Given the description of an element on the screen output the (x, y) to click on. 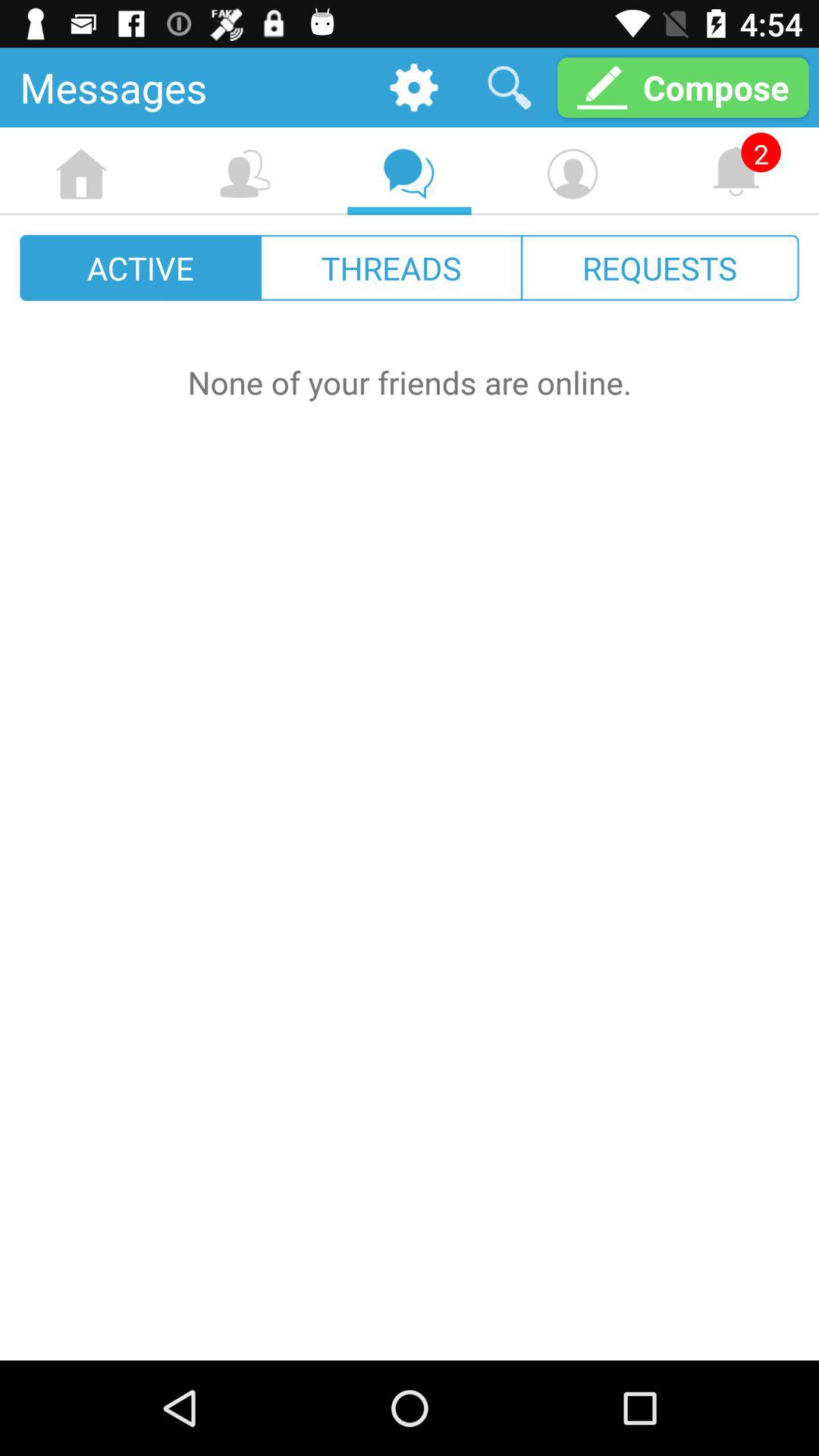
choose item to the left of threads icon (140, 267)
